Given the description of an element on the screen output the (x, y) to click on. 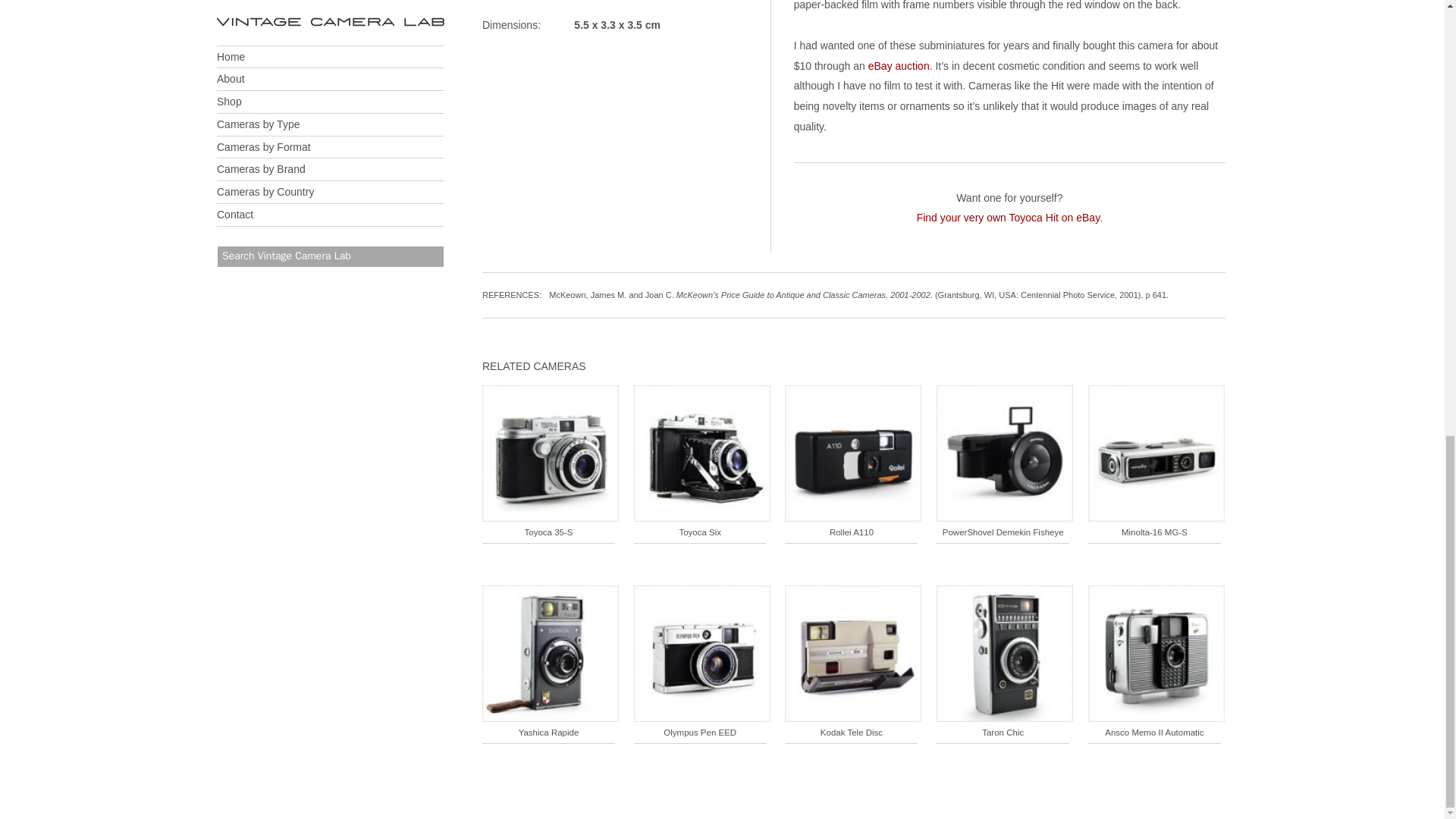
Rollei A110 (852, 460)
Toyoca Six (701, 460)
Buy a Toyoca Hit camera on eBay (898, 64)
Toyoca 35-S (549, 460)
Buy a Toyoca Hit camera on eBay (1008, 217)
